Given the description of an element on the screen output the (x, y) to click on. 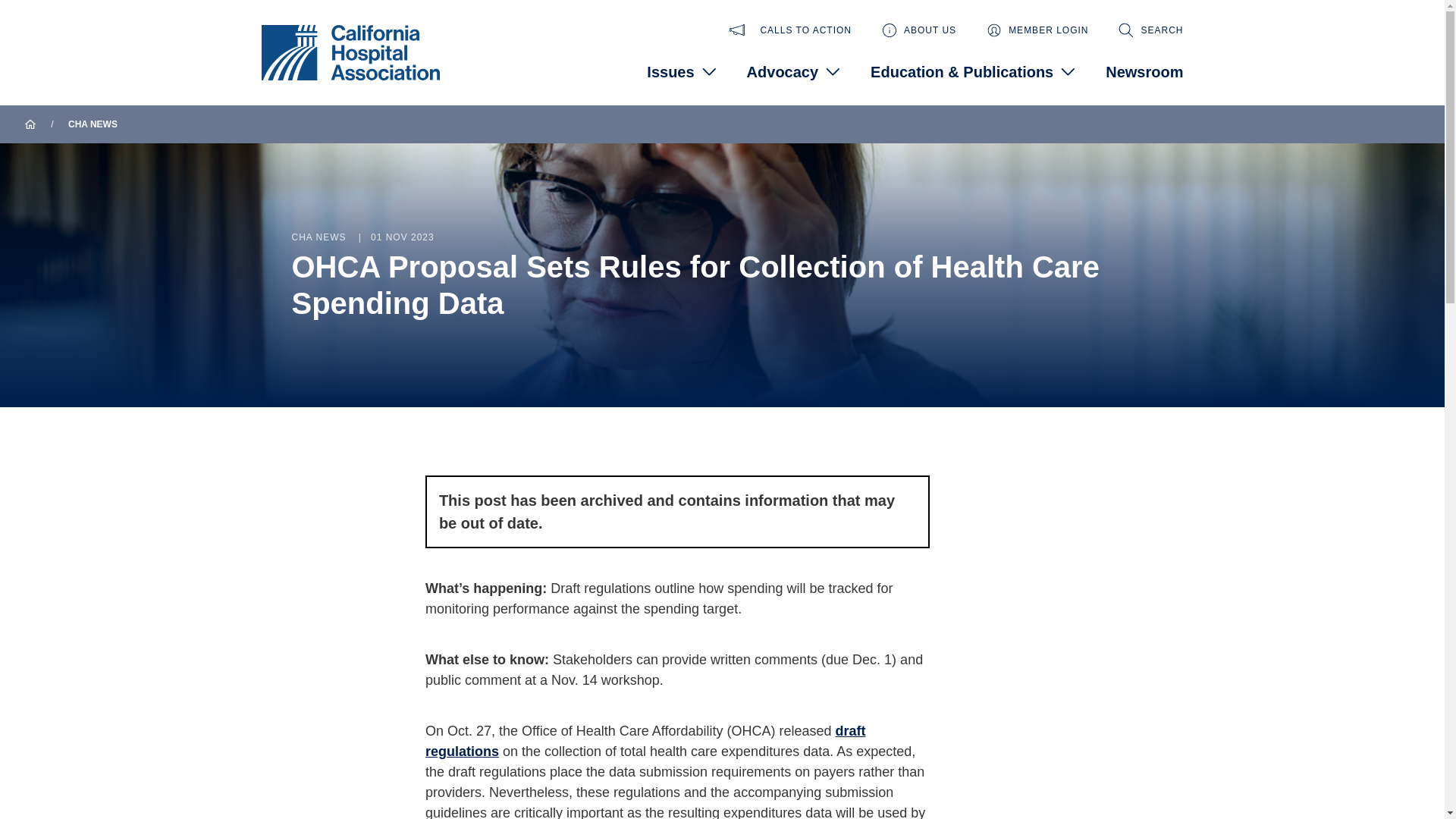
MEMBER LOGIN (1037, 29)
ABOUT US (919, 29)
CHA NEWS (92, 124)
Newsroom (1143, 71)
Advocacy (793, 71)
draft regulations (645, 741)
Issues (681, 71)
SEARCH (1150, 29)
CALLS TO ACTION (790, 29)
